Given the description of an element on the screen output the (x, y) to click on. 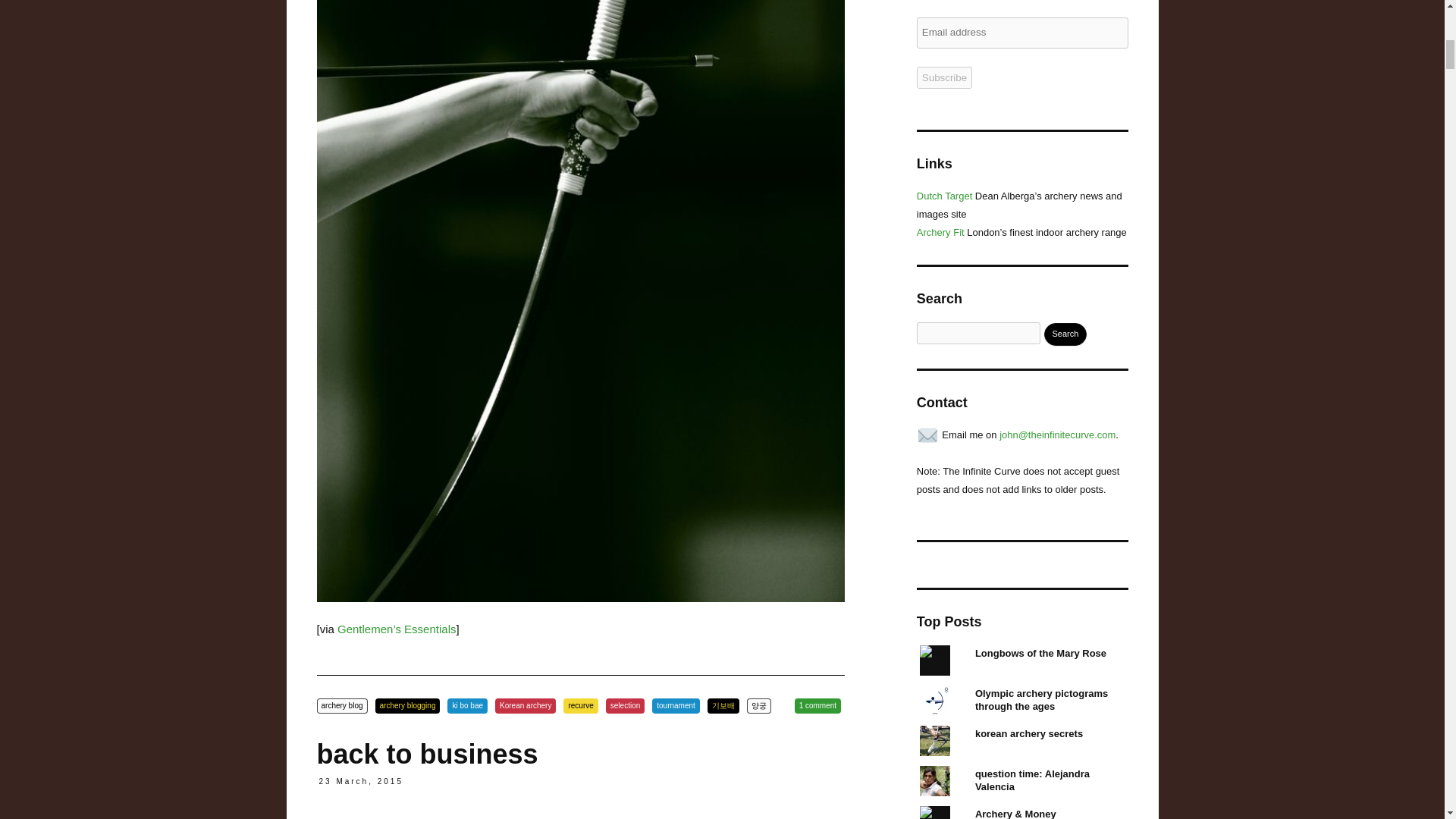
Olympic archery pictograms through the ages (1041, 699)
recurve (579, 705)
archery blog (342, 705)
tournament (676, 705)
selection (625, 705)
1 comment (817, 705)
ki bo bae (466, 705)
Search (1065, 333)
Longbows of the Mary Rose (1040, 653)
back to business (427, 753)
Korean archery (525, 705)
archery blogging (408, 705)
